Given the description of an element on the screen output the (x, y) to click on. 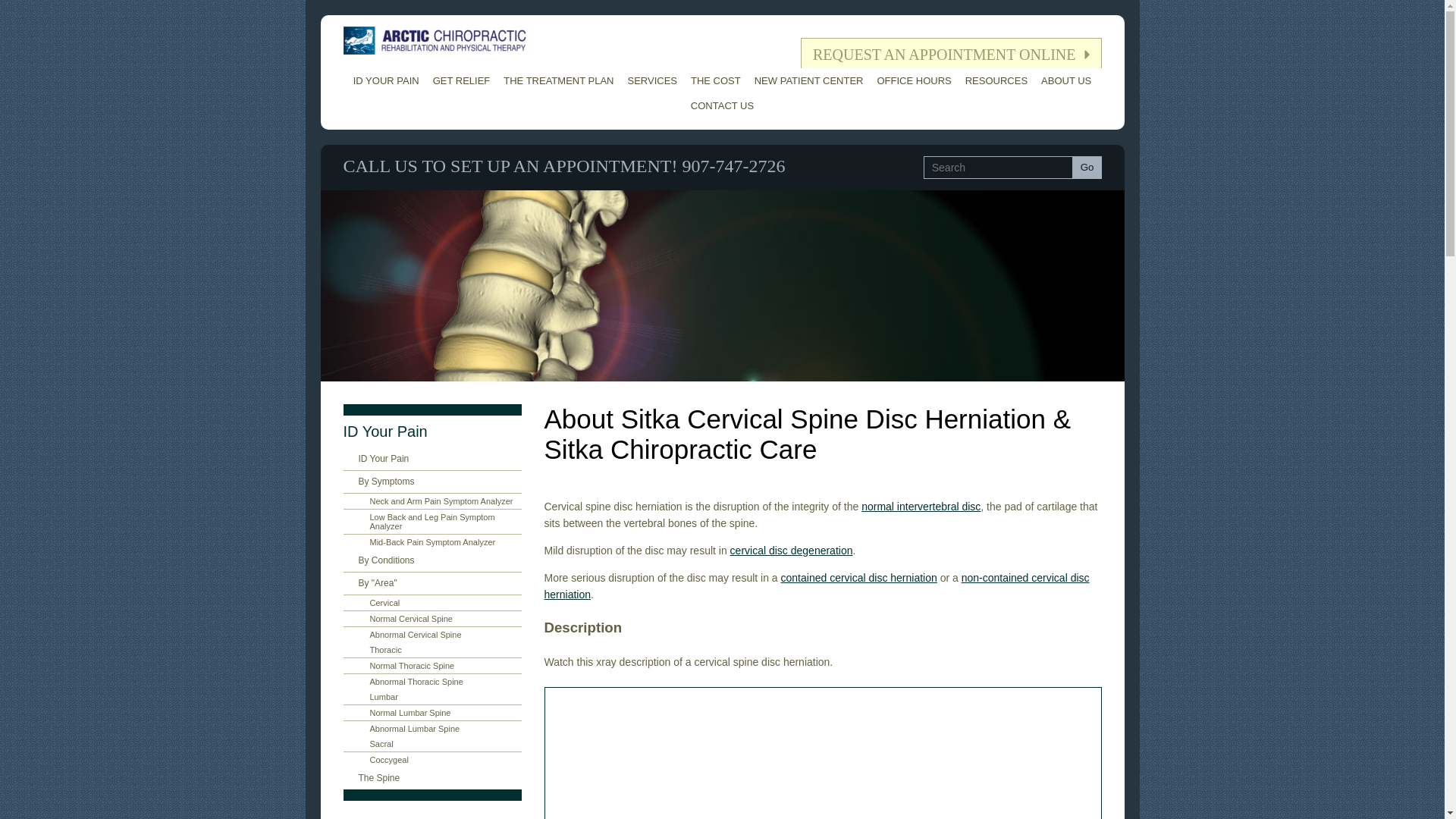
SERVICES (652, 80)
REQUEST AN APPOINTMENT ONLINE (951, 52)
NEW PATIENT CENTER (809, 80)
Arctic Chiropractic, Sitka (436, 40)
Go (1087, 167)
THE TREATMENT PLAN (558, 80)
GET RELIEF (461, 80)
THE COST (716, 80)
ID YOUR PAIN (386, 80)
